Given the description of an element on the screen output the (x, y) to click on. 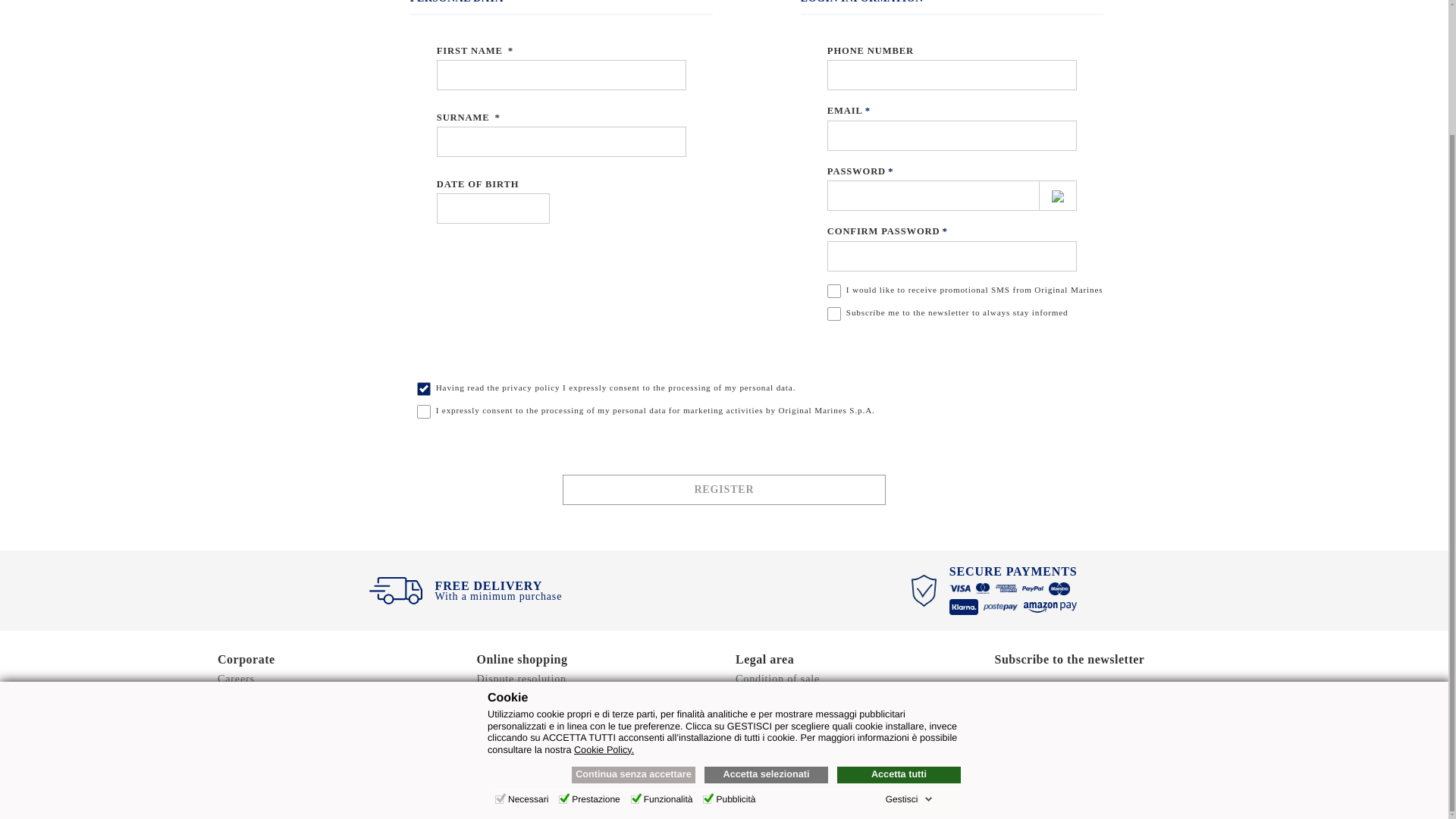
Accetta tutti (898, 620)
Cookie Policy. (603, 595)
Accetta selezionati (766, 620)
Gestisci (909, 645)
Continua senza accettare (633, 620)
